Given the description of an element on the screen output the (x, y) to click on. 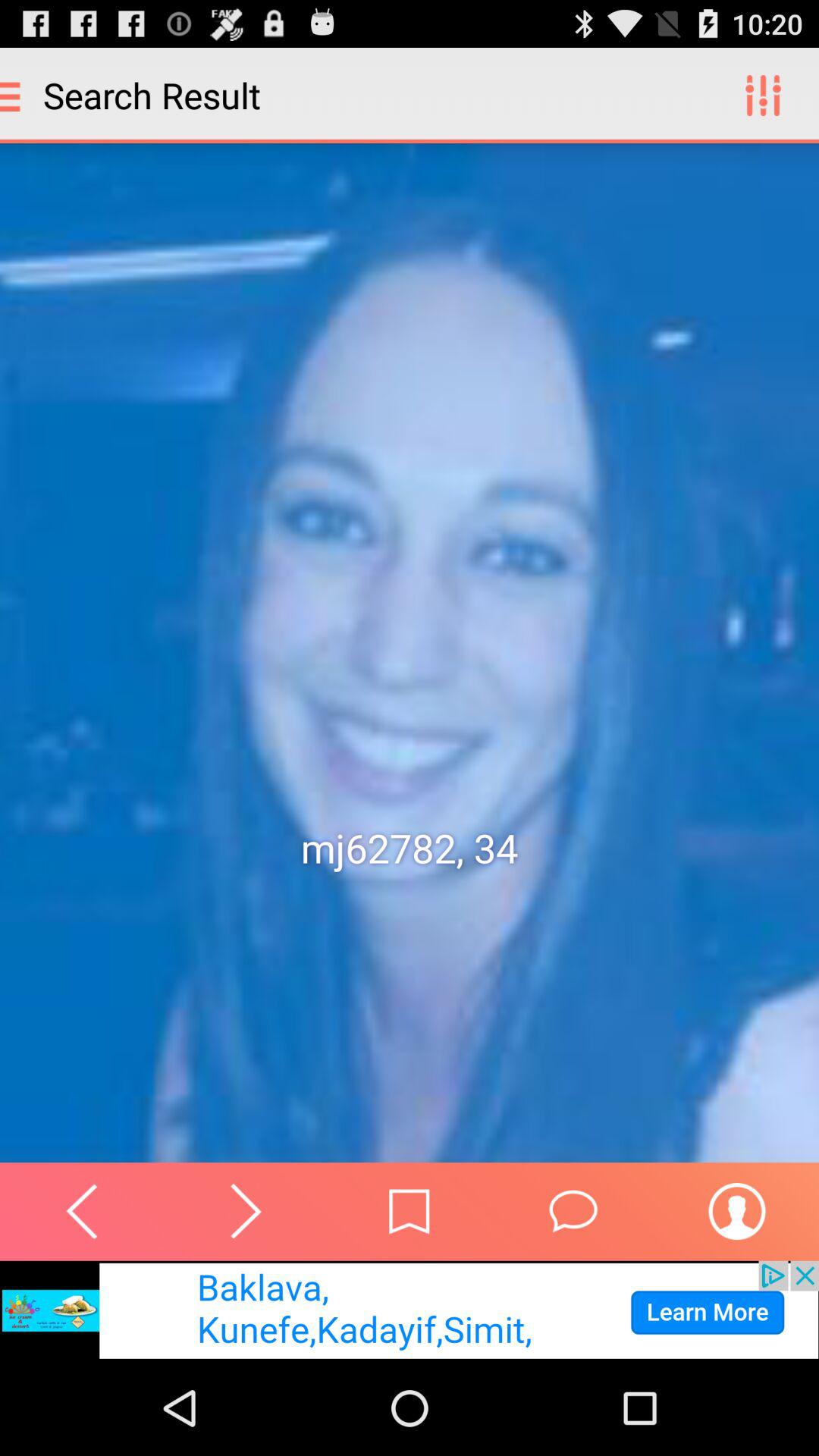
users (737, 1211)
